Given the description of an element on the screen output the (x, y) to click on. 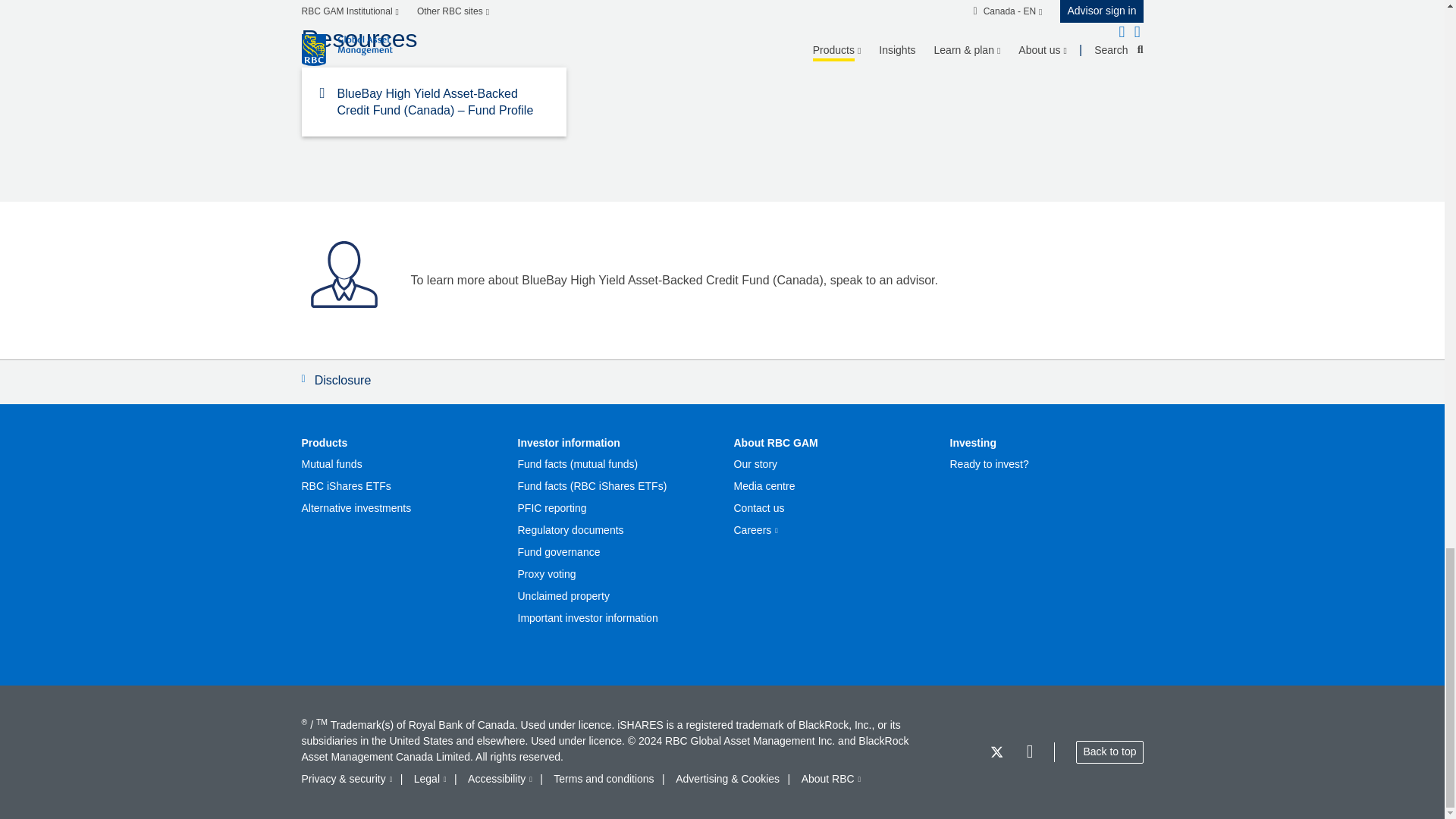
Alternative investments (356, 508)
Legal (429, 779)
Proxy voting (545, 574)
Mutual funds (331, 463)
Disclosure (721, 382)
Contact us (758, 508)
Accessibility (499, 779)
Fund governance (557, 552)
RBC iShares ETFs (346, 486)
Regulatory documents (569, 530)
Careers (755, 530)
Important investor information (587, 617)
Ready to invest? (988, 463)
Terms and conditions (603, 779)
PFIC reporting (551, 508)
